Given the description of an element on the screen output the (x, y) to click on. 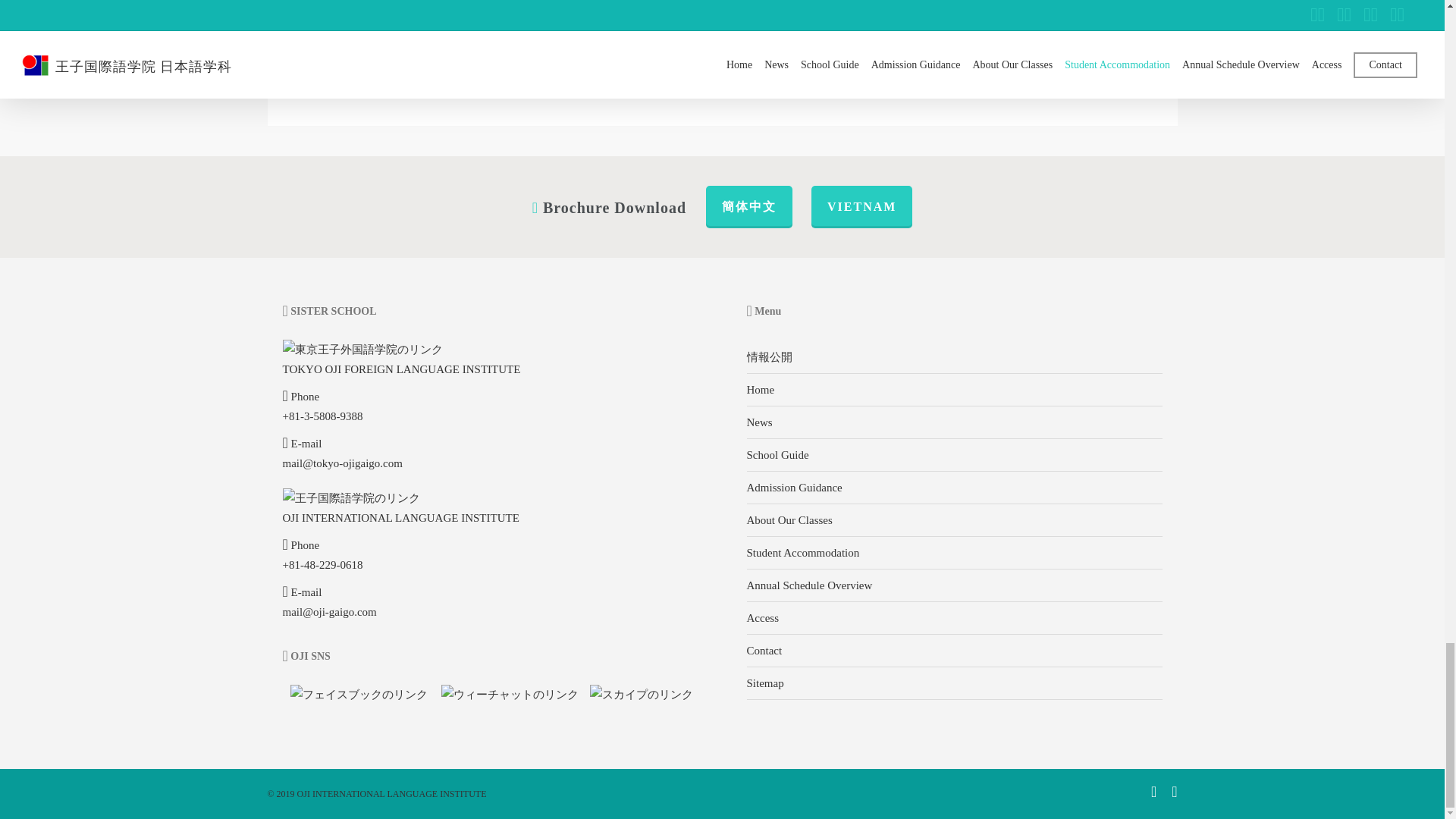
School Guide (776, 454)
Home (759, 389)
News (758, 422)
VIETNAM (861, 206)
About Our Classes (788, 520)
Admission Guidance (793, 487)
Student Accommodation (802, 552)
